Given the description of an element on the screen output the (x, y) to click on. 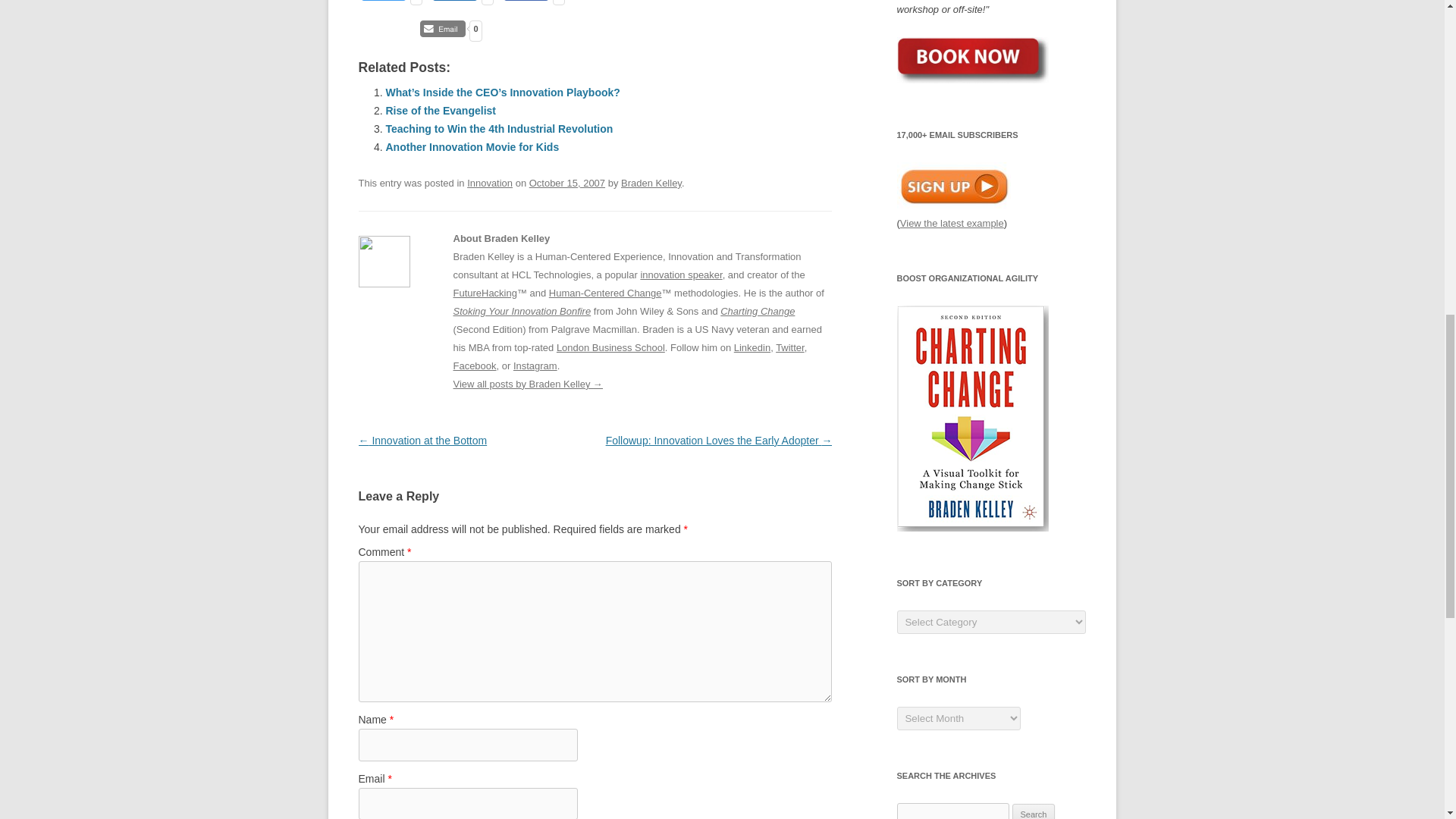
Search (1033, 811)
5:35 pm (567, 183)
Another Innovation Movie for Kids (472, 146)
View all posts by Braden Kelley (651, 183)
Teaching to Win the 4th Industrial Revolution (498, 128)
Rise of the Evangelist (440, 110)
Sign up for the Braden Kelley Monthly update (953, 185)
